Given the description of an element on the screen output the (x, y) to click on. 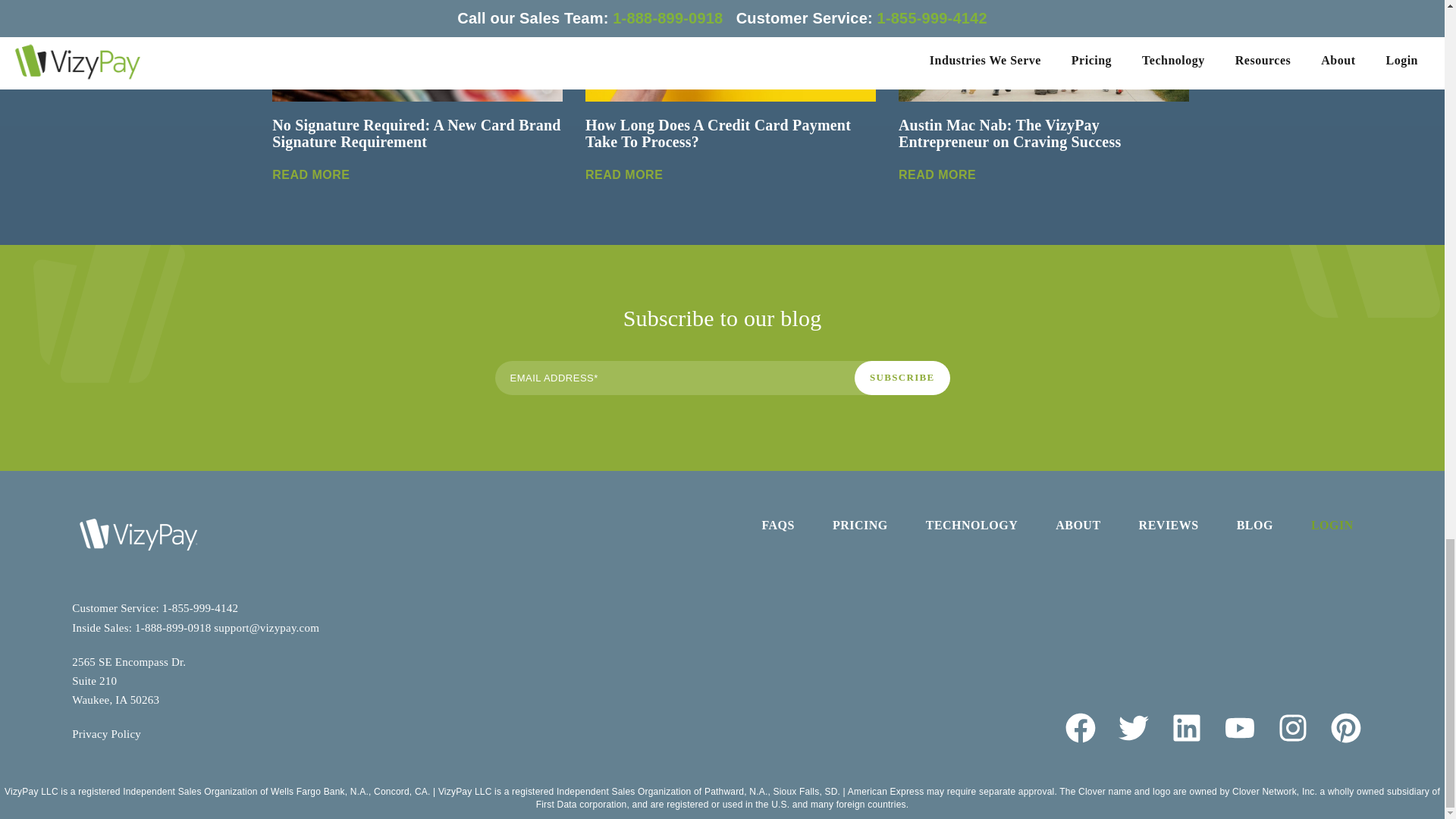
Subscribe (901, 377)
